Given the description of an element on the screen output the (x, y) to click on. 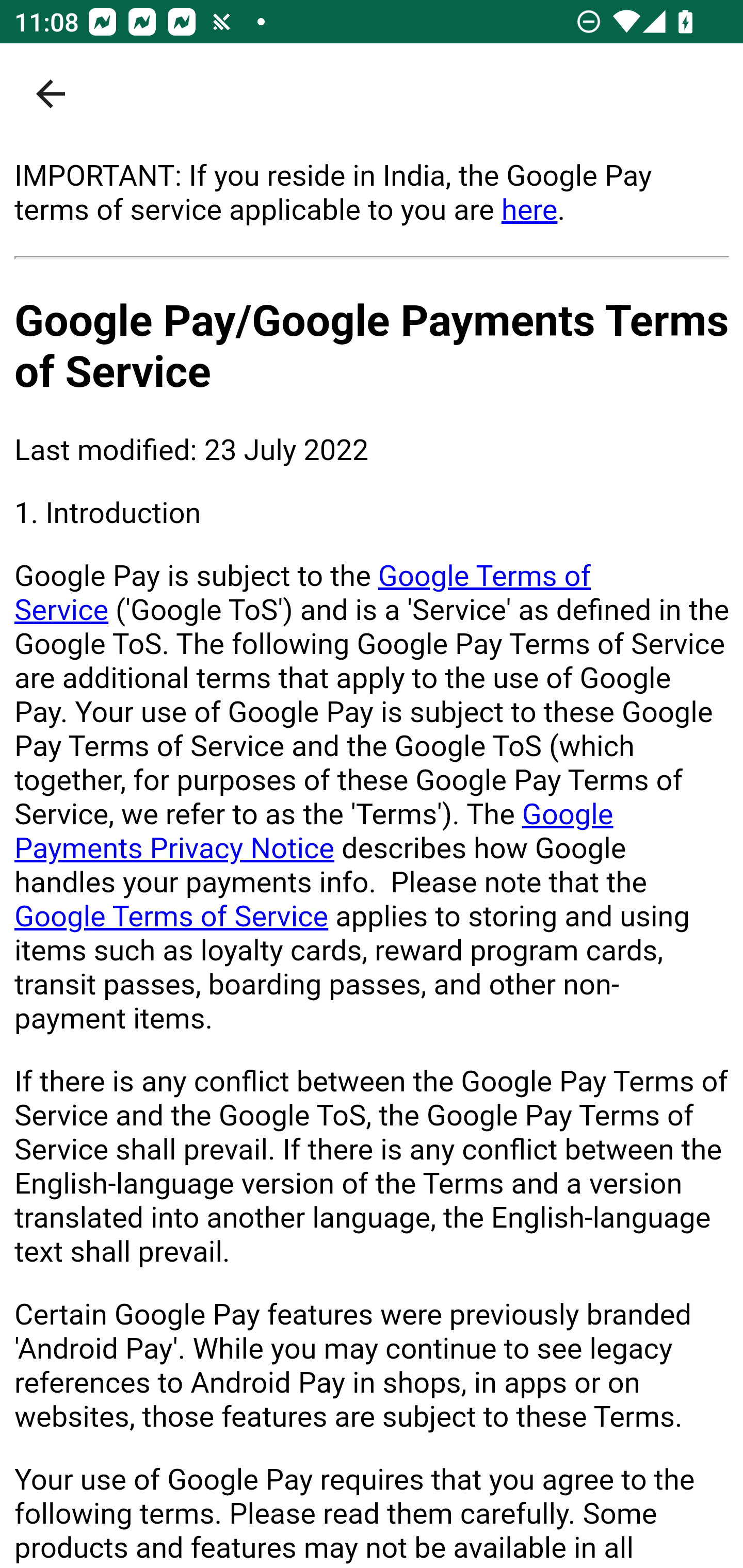
Navigate up (50, 93)
here (528, 209)
Google Terms of Service (303, 593)
Google Payments Privacy Notice (313, 831)
Google Terms of Service (171, 916)
